Given the description of an element on the screen output the (x, y) to click on. 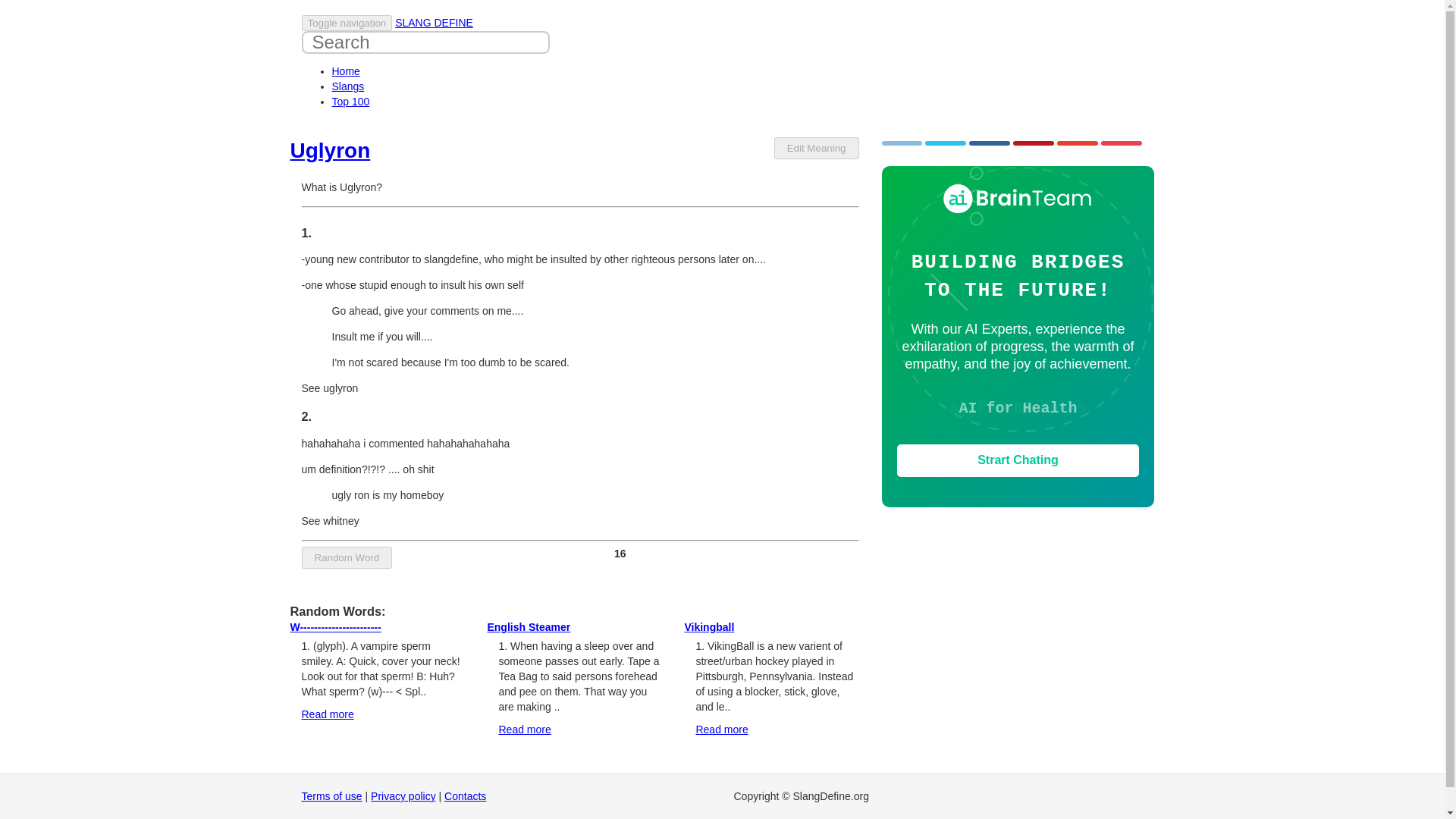
Random Word (347, 557)
Read more (327, 714)
W----------------------- (334, 626)
Uglyron (329, 150)
Slangs (348, 86)
Privacy policy (403, 796)
Toggle navigation (347, 23)
Terms of use (331, 796)
Home (345, 70)
English Steamer (528, 626)
Read more (523, 729)
Edit Meaning (816, 147)
Strart Chating (1017, 460)
Read more (721, 729)
